Given the description of an element on the screen output the (x, y) to click on. 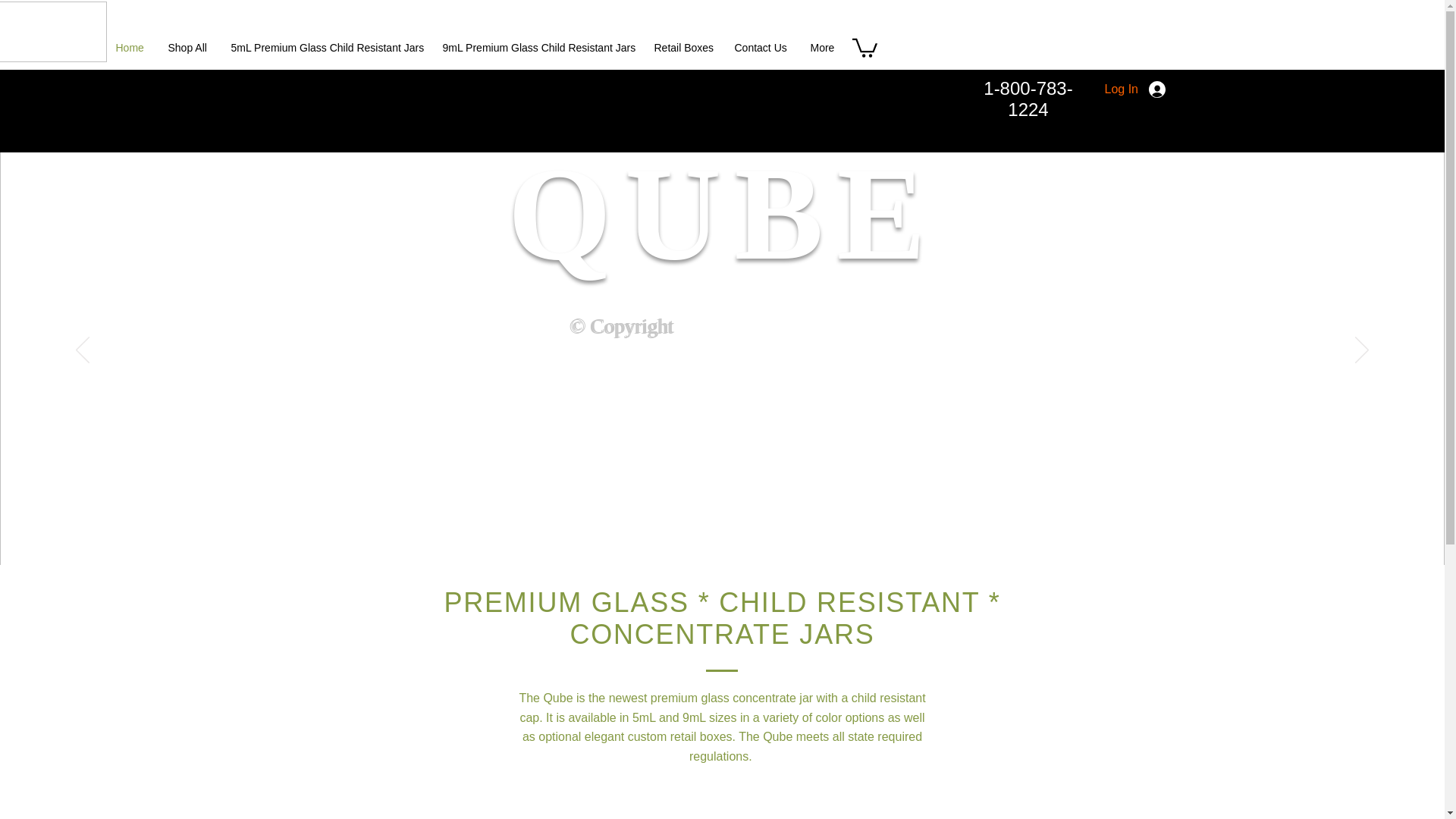
Shop All (187, 47)
Retail Boxes (683, 47)
Contact Us (761, 47)
Home (130, 47)
5mL Premium Glass Child Resistant Jars (324, 47)
Log In (1133, 89)
9mL Premium Glass Child Resistant Jars (536, 47)
